Given the description of an element on the screen output the (x, y) to click on. 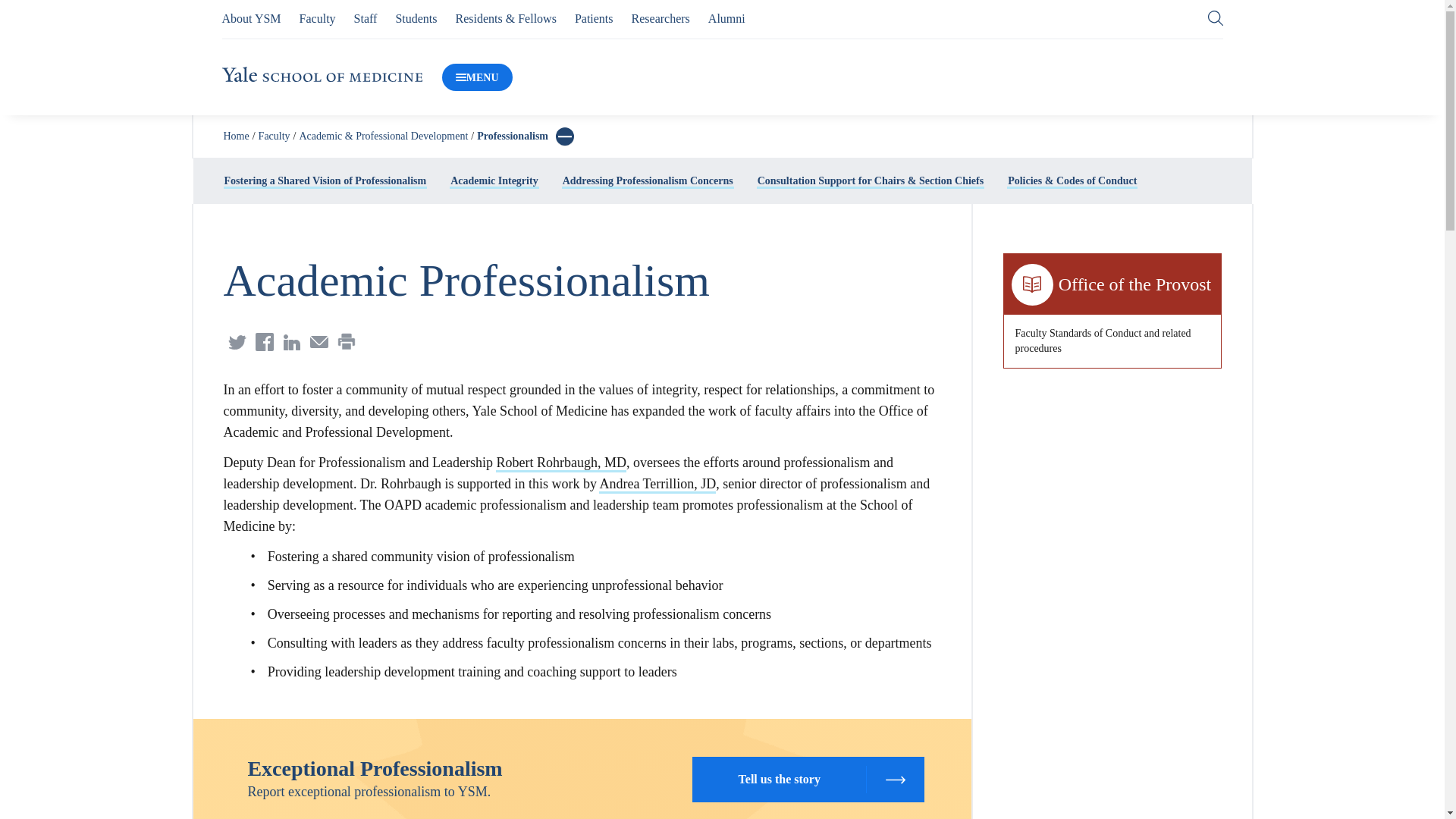
Faculty (317, 18)
Patients (593, 18)
Researchers (660, 18)
Alumni (726, 18)
About YSM (251, 18)
Staff (365, 18)
Yale School of Medicine (321, 73)
MENU (477, 76)
Students (415, 18)
Yale School of Medicine (321, 76)
